Given the description of an element on the screen output the (x, y) to click on. 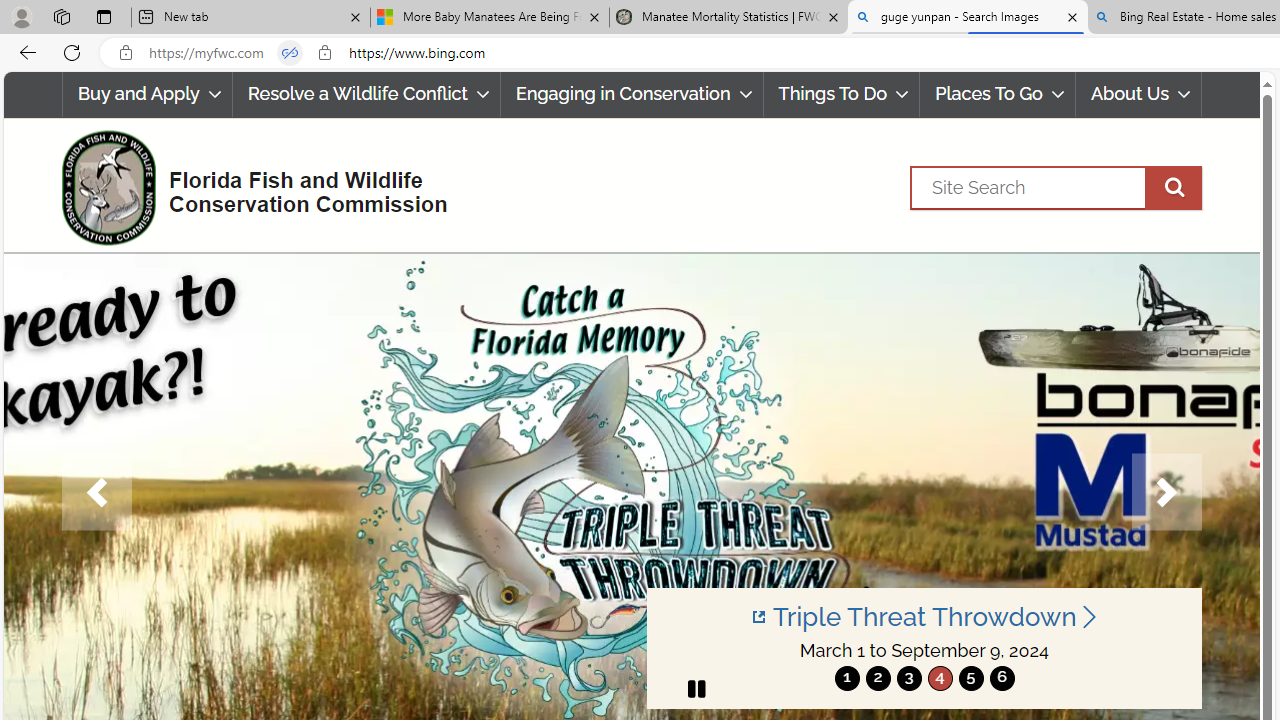
Places To Go (998, 94)
Previous (96, 491)
Things To Do (841, 94)
4 (939, 678)
5 (970, 678)
Buy and Apply (146, 94)
Places To Go (997, 94)
Engaging in Conservation (632, 94)
2 (877, 678)
move to slide 2 (877, 678)
